Given the description of an element on the screen output the (x, y) to click on. 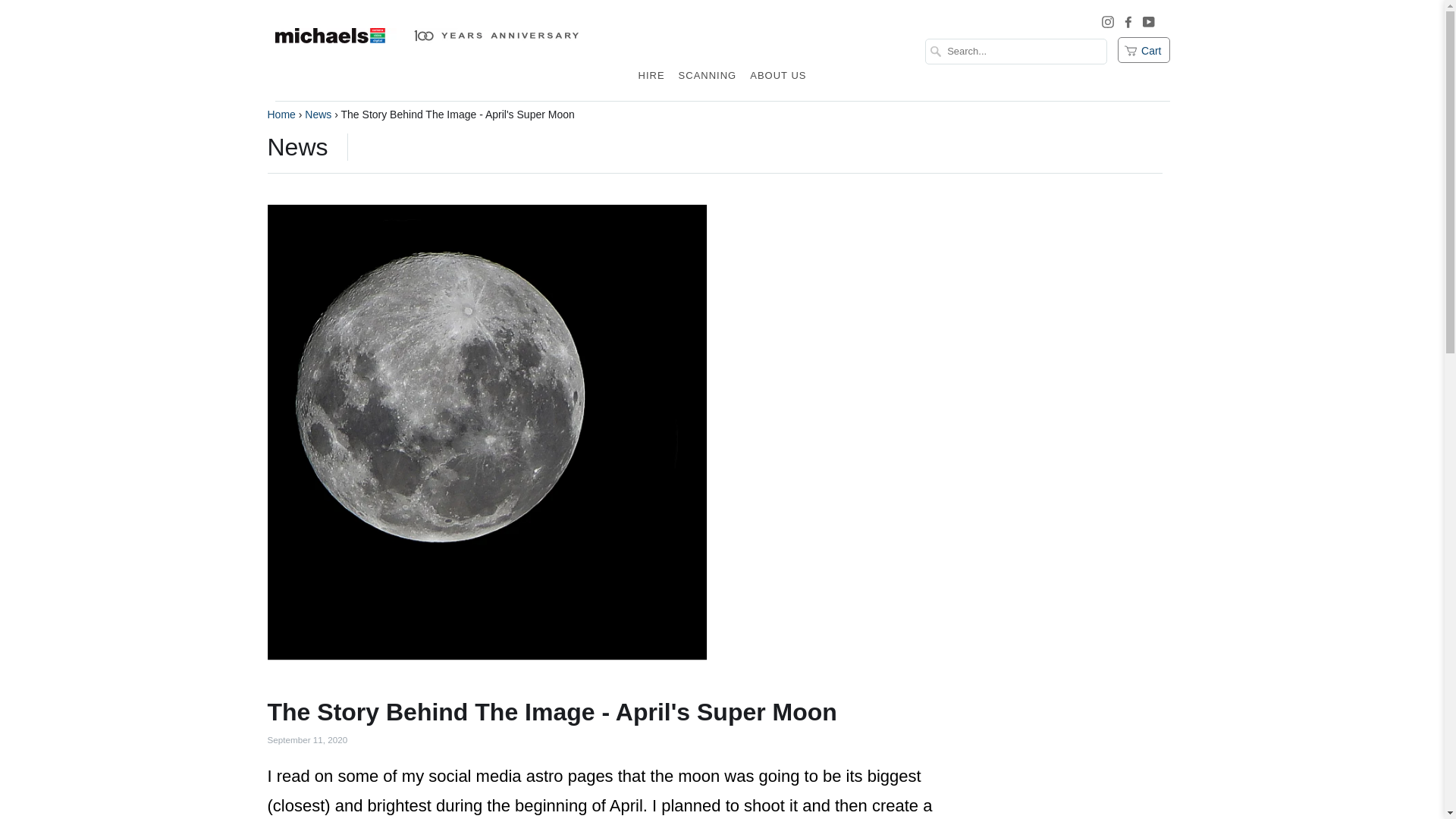
SCANNING (707, 79)
News (317, 114)
HIRE (651, 79)
Cart (1143, 49)
ABOUT US (777, 79)
ABOUT US (777, 79)
HIRE (651, 79)
News (296, 146)
Home (280, 114)
News (296, 146)
michaels camera video digital (426, 50)
SCANNING (707, 79)
Cart (1143, 49)
Home (280, 114)
